Given the description of an element on the screen output the (x, y) to click on. 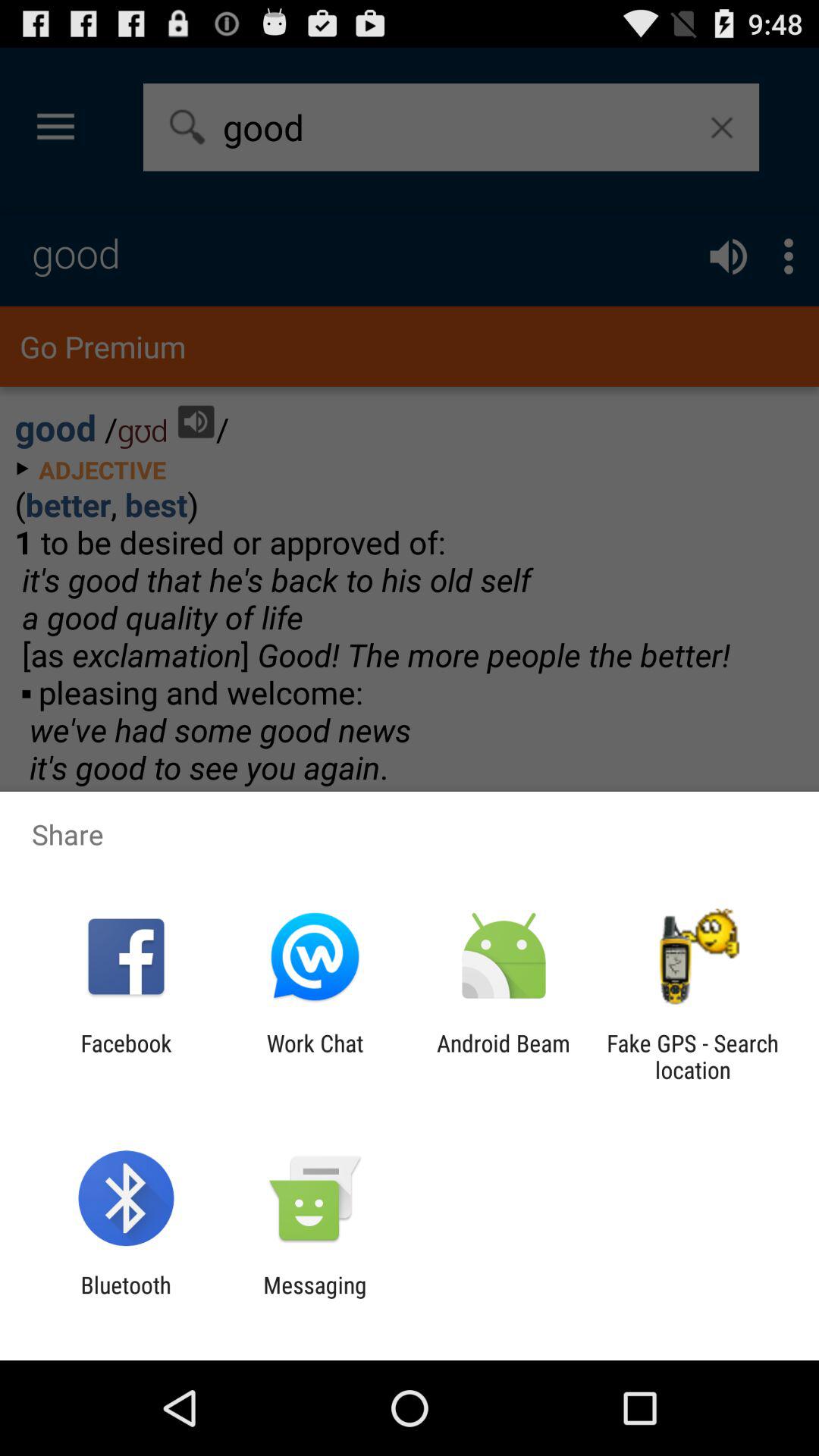
tap the icon to the left of messaging item (125, 1298)
